Given the description of an element on the screen output the (x, y) to click on. 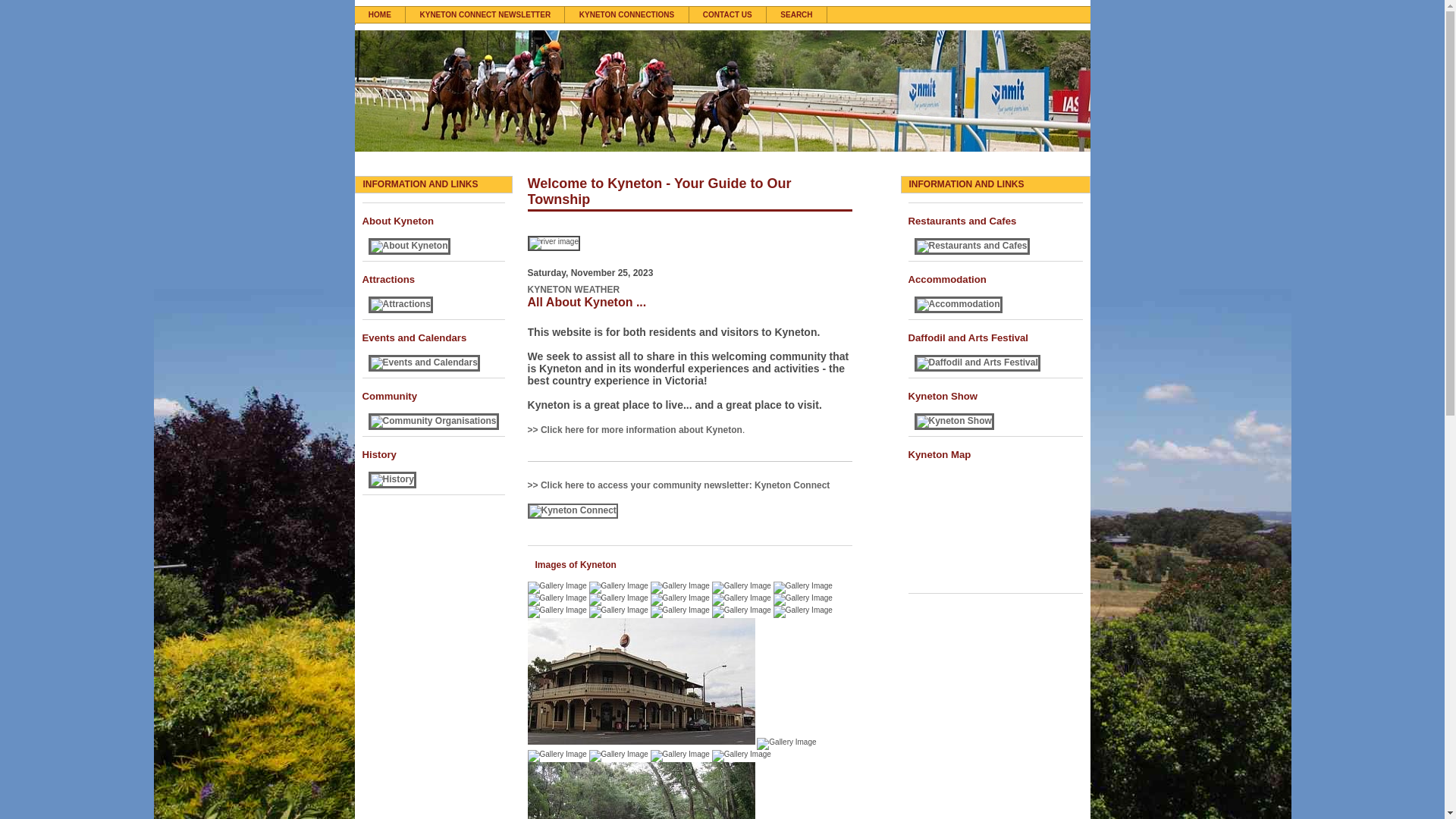
Restaurants and Cafes Element type: text (995, 215)
Events and Calendars Element type: text (433, 332)
Community Element type: text (433, 390)
   HOME    Element type: text (380, 14)
Kyneton Show Element type: text (995, 390)
   KYNETON CONNECTIONS    Element type: text (626, 14)
KYNETON WEATHER Element type: text (573, 289)
   CONTACT US    Element type: text (727, 14)
Accommodation Element type: text (995, 273)
   SEARCH    Element type: text (796, 14)
>> Click here for more information about Kyneton Element type: text (634, 429)
About Kyneton Element type: text (433, 215)
   KYNETON CONNECT NEWSLETTER    Element type: text (484, 14)
Kyneton Map Element type: text (995, 448)
History Element type: text (433, 448)
Attractions Element type: text (433, 273)
Daffodil and Arts Festival Element type: text (995, 332)
